Given the description of an element on the screen output the (x, y) to click on. 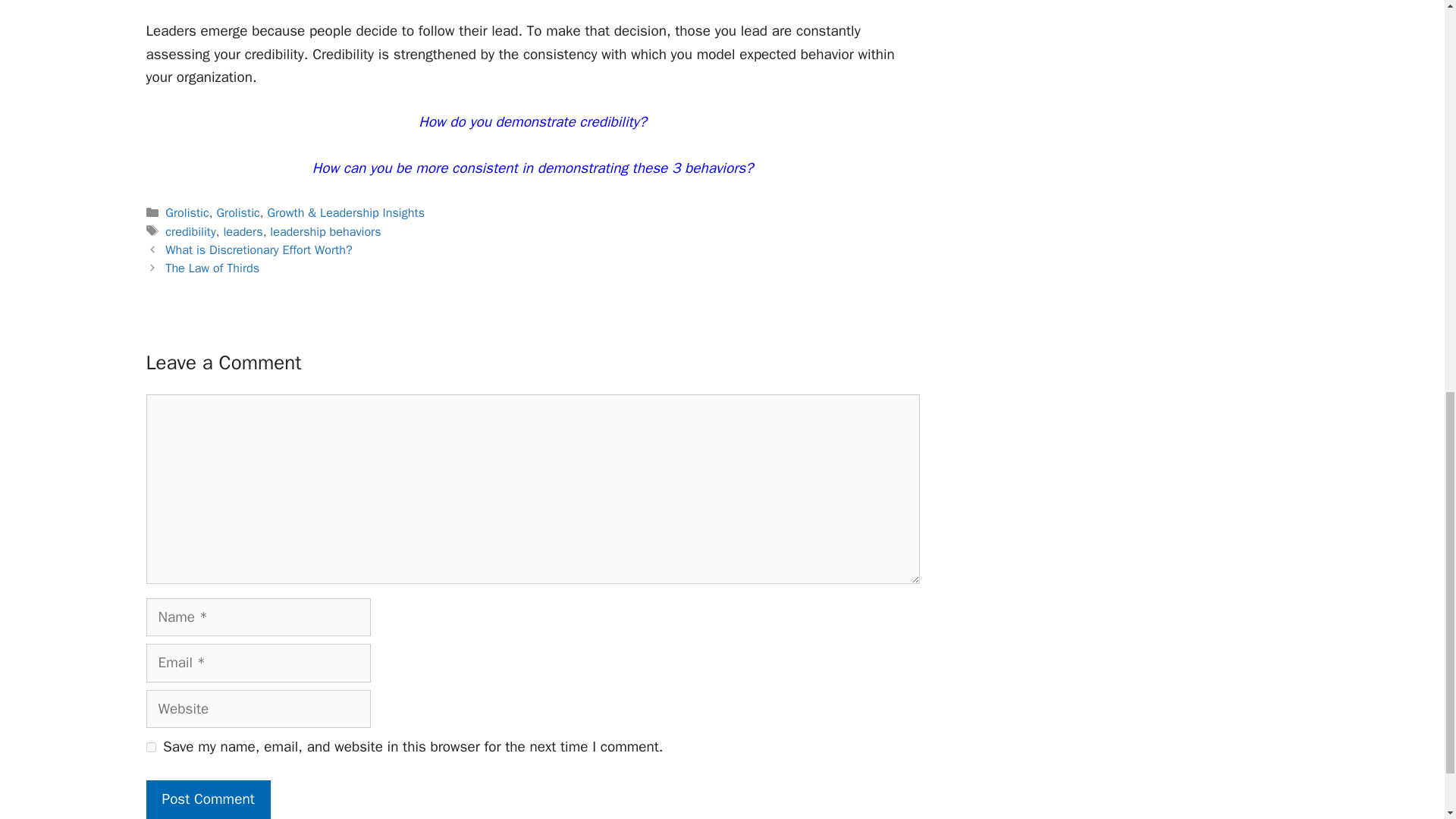
leadership behaviors (324, 230)
leaders (242, 230)
yes (150, 747)
The Law of Thirds (212, 268)
Grolistic (237, 212)
credibility (190, 230)
Grolistic (186, 212)
What is Discretionary Effort Worth? (258, 249)
Post Comment (207, 799)
Post Comment (207, 799)
